Given the description of an element on the screen output the (x, y) to click on. 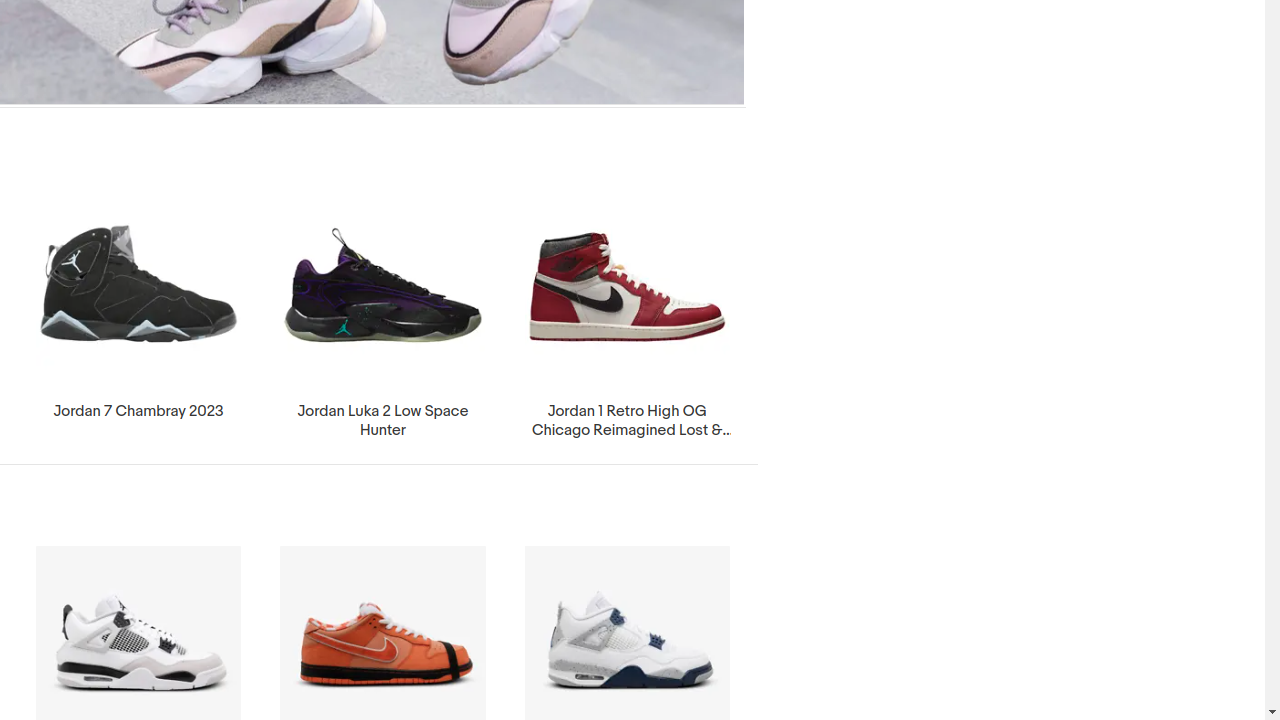
Jordan 7 Chambray 2023 Element type: link (138, 305)
Jordan 1 Retro High OG Chicago Reimagined Lost & Found 2022 Element type: link (627, 314)
Jordan Luka 2 Low Space Hunter Element type: link (383, 314)
